Given the description of an element on the screen output the (x, y) to click on. 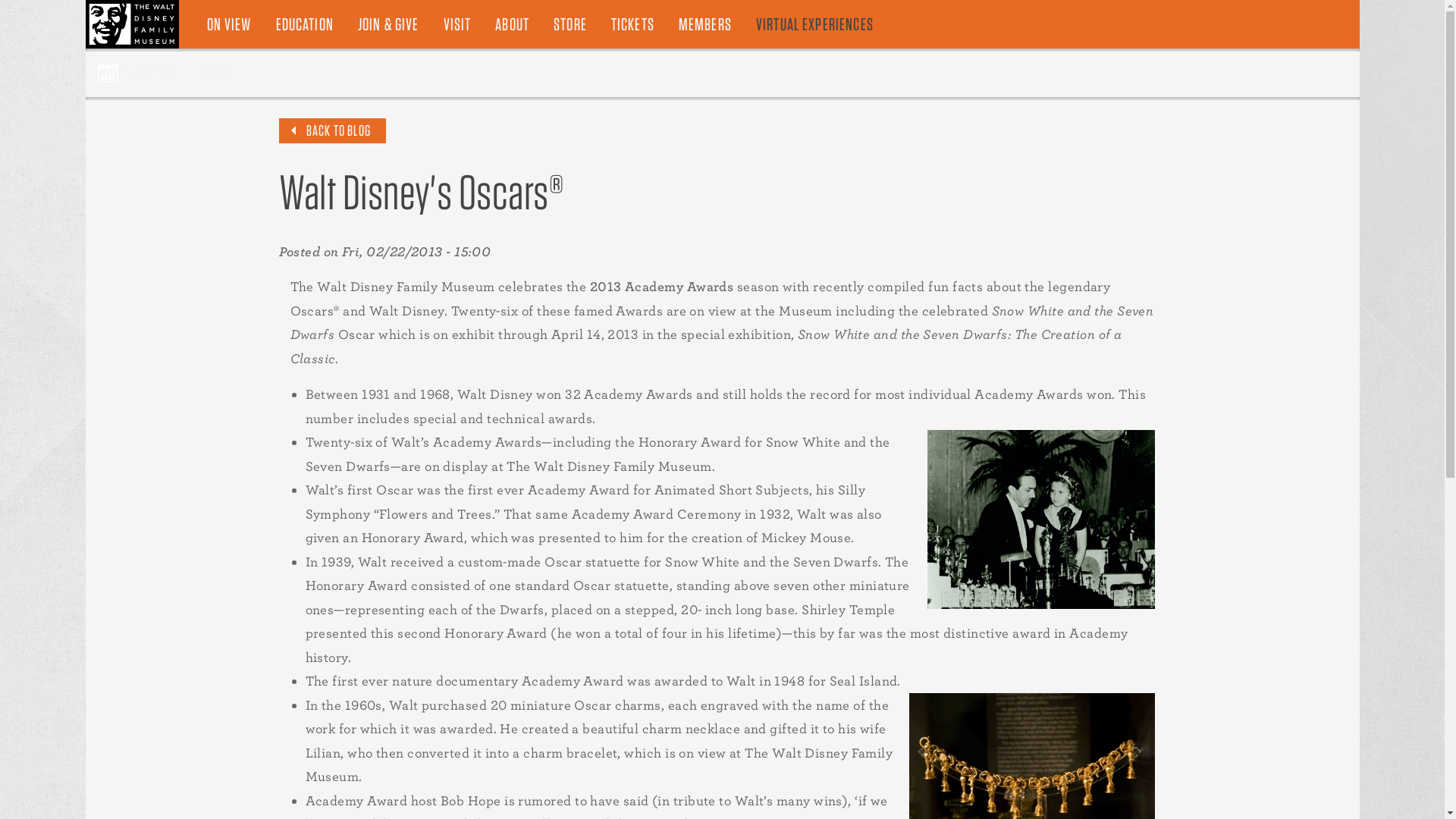
Home (131, 24)
EDUCATION (304, 24)
Event Calendar (135, 72)
ABOUT (512, 24)
VISIT (456, 24)
ON VIEW (228, 24)
